Given the description of an element on the screen output the (x, y) to click on. 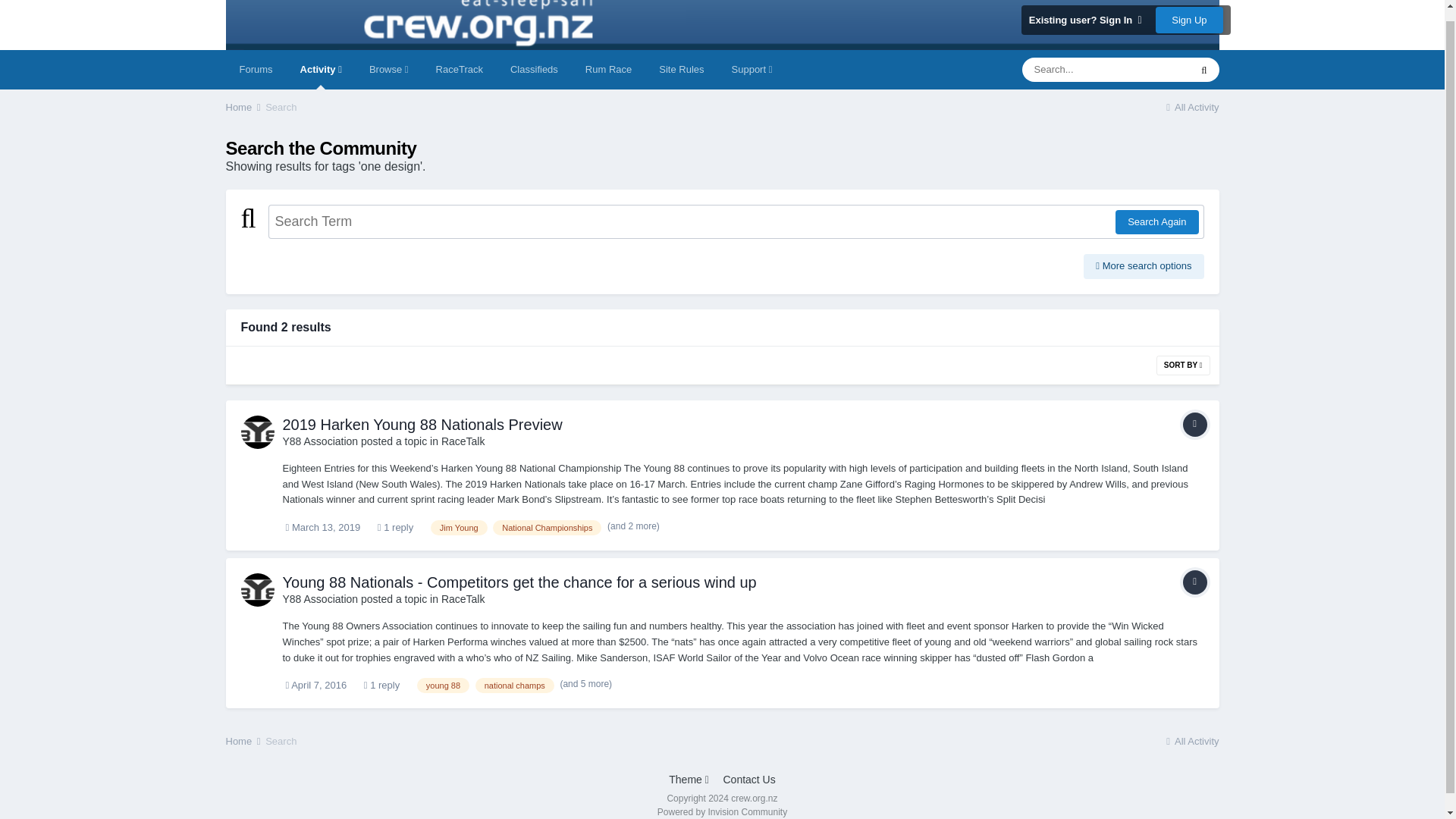
Topic (1194, 582)
Find other content tagged with 'national champs' (515, 685)
Forums (255, 69)
Rum Race (608, 69)
Browse (388, 69)
Find other content tagged with 'National Championships' (547, 527)
Existing user? Sign In   (1085, 19)
Activity (320, 69)
Find other content tagged with 'Jim Young' (458, 527)
Home (244, 107)
Go to Y88 Association's profile (258, 431)
Search (280, 107)
Search Again (1156, 221)
All Activity (1190, 107)
Topic (1194, 424)
